Given the description of an element on the screen output the (x, y) to click on. 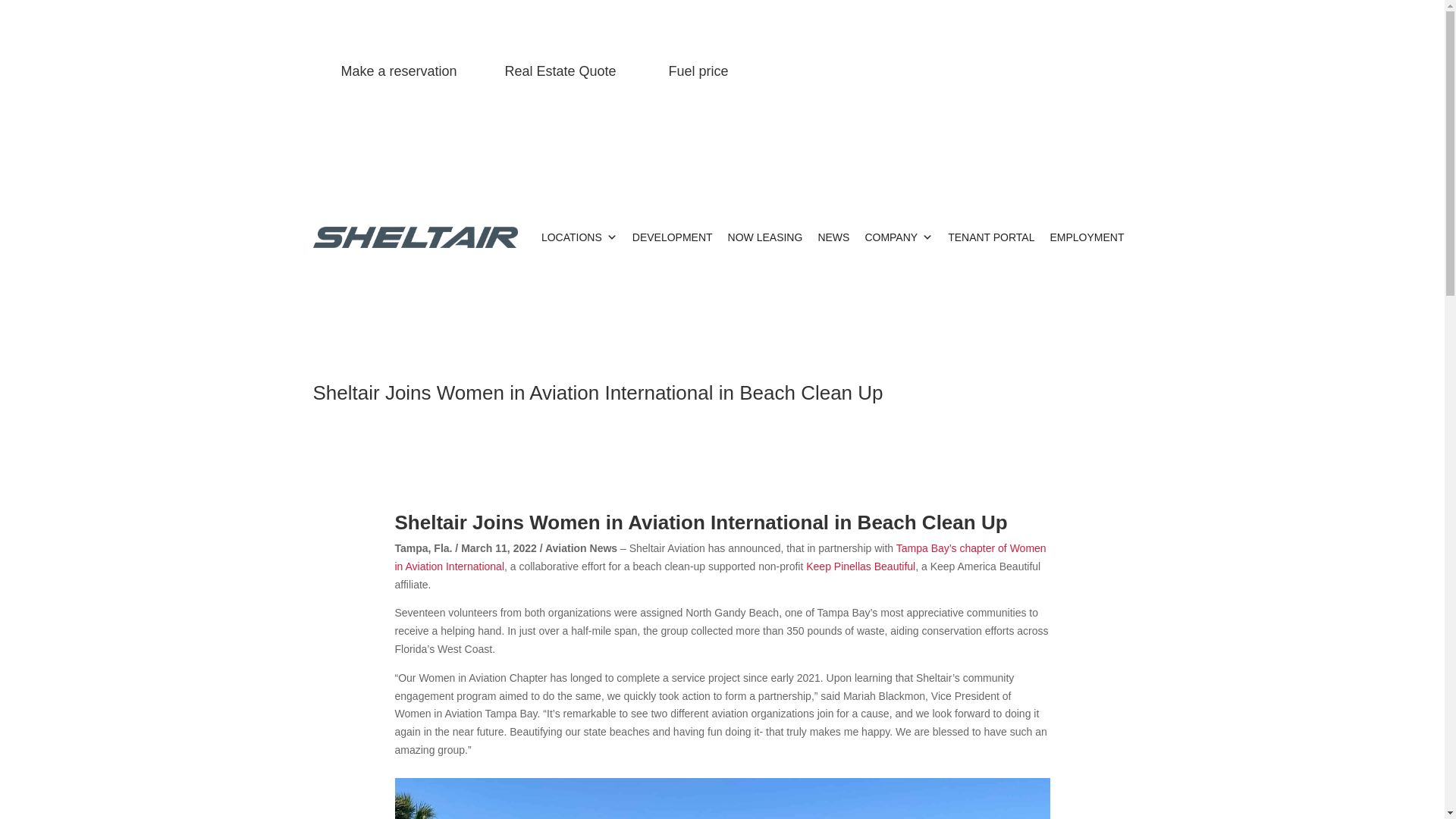
Real Estate Quote (560, 70)
Fuel price (698, 70)
Follow on LinkedIn (1088, 73)
SheltairLogo395x40 (414, 236)
Follow on X (1058, 73)
Make a reservation (398, 70)
NEWS (833, 237)
LOCATIONS (579, 237)
DEVELOPMENT (672, 237)
Follow on Facebook (1028, 73)
